Given the description of an element on the screen output the (x, y) to click on. 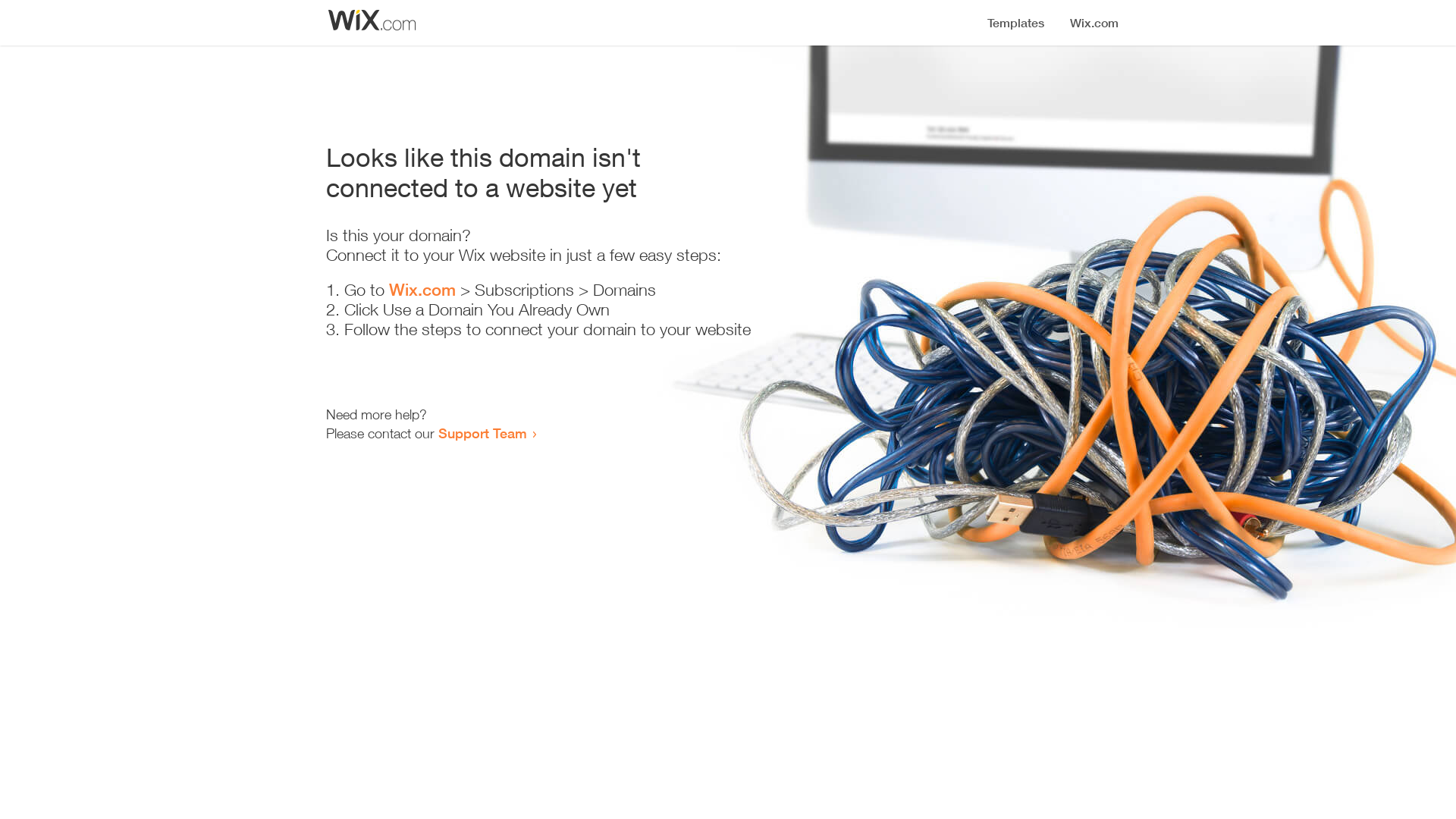
Support Team Element type: text (482, 432)
Wix.com Element type: text (422, 289)
